Given the description of an element on the screen output the (x, y) to click on. 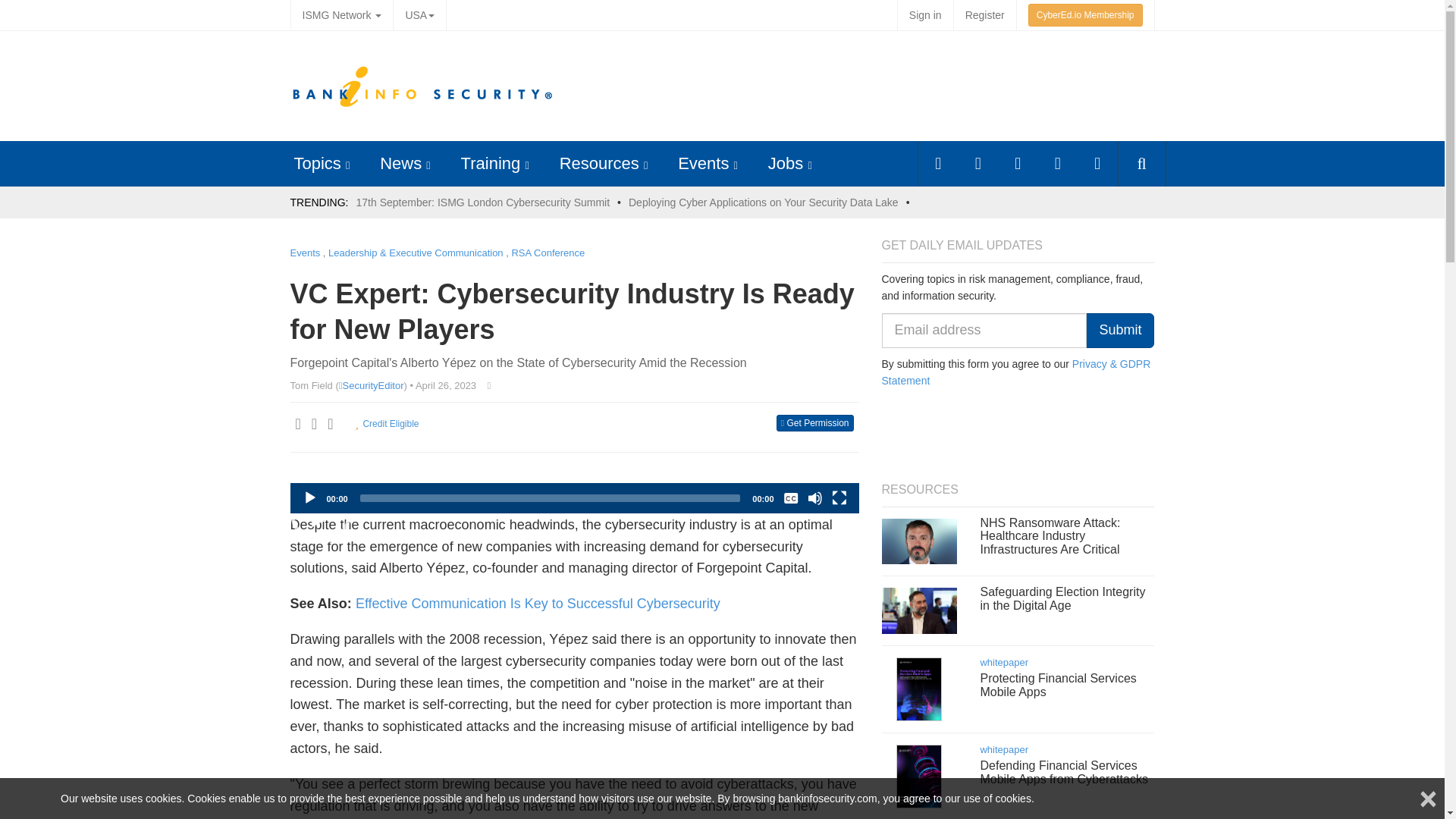
Topics (317, 162)
CyberEd.io Membership (1084, 15)
ISMG Network (341, 15)
USA (418, 15)
Sign in (925, 15)
Register (984, 15)
